Given the description of an element on the screen output the (x, y) to click on. 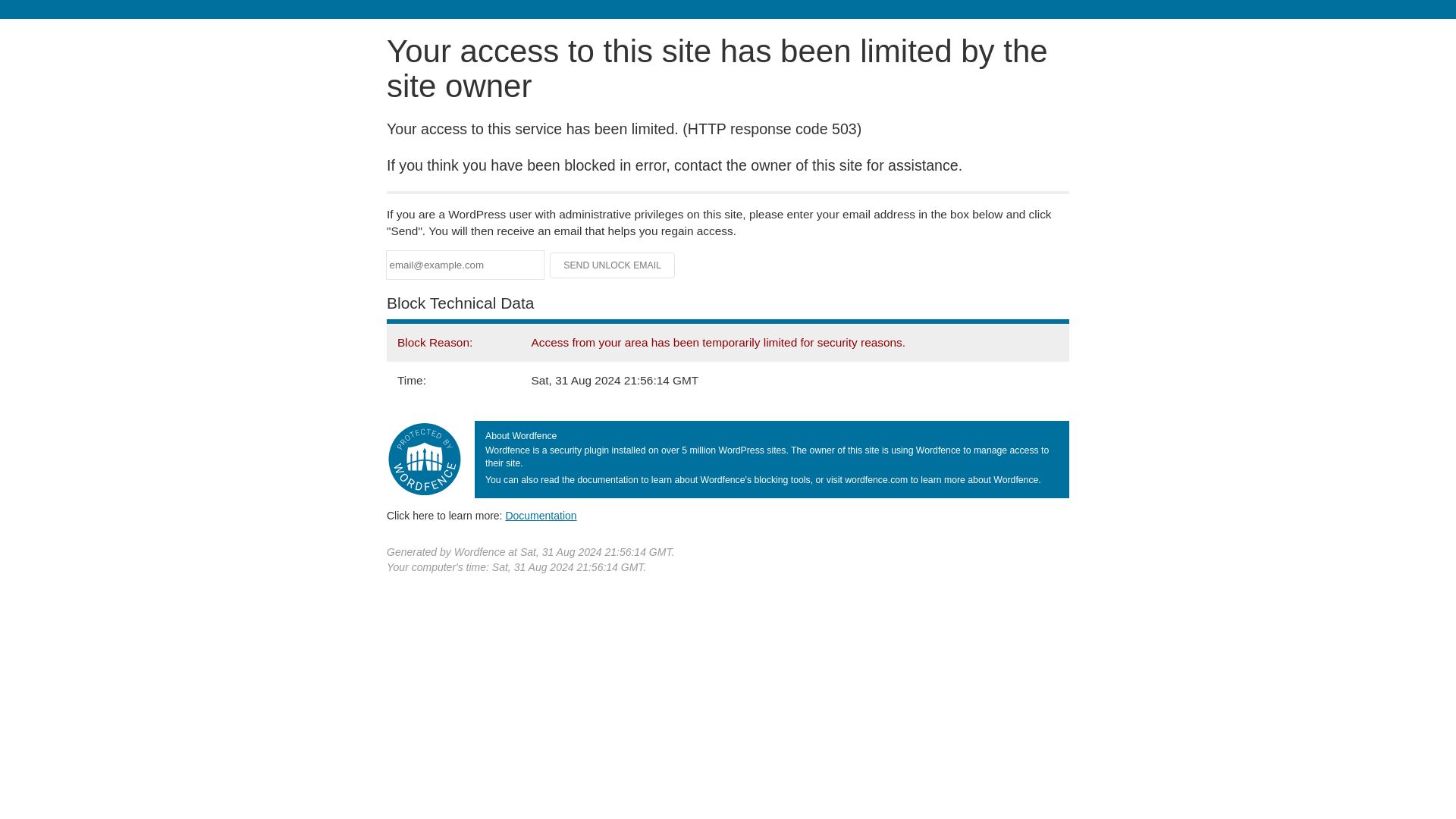
Documentation (540, 515)
Send Unlock Email (612, 265)
Send Unlock Email (612, 265)
